Given the description of an element on the screen output the (x, y) to click on. 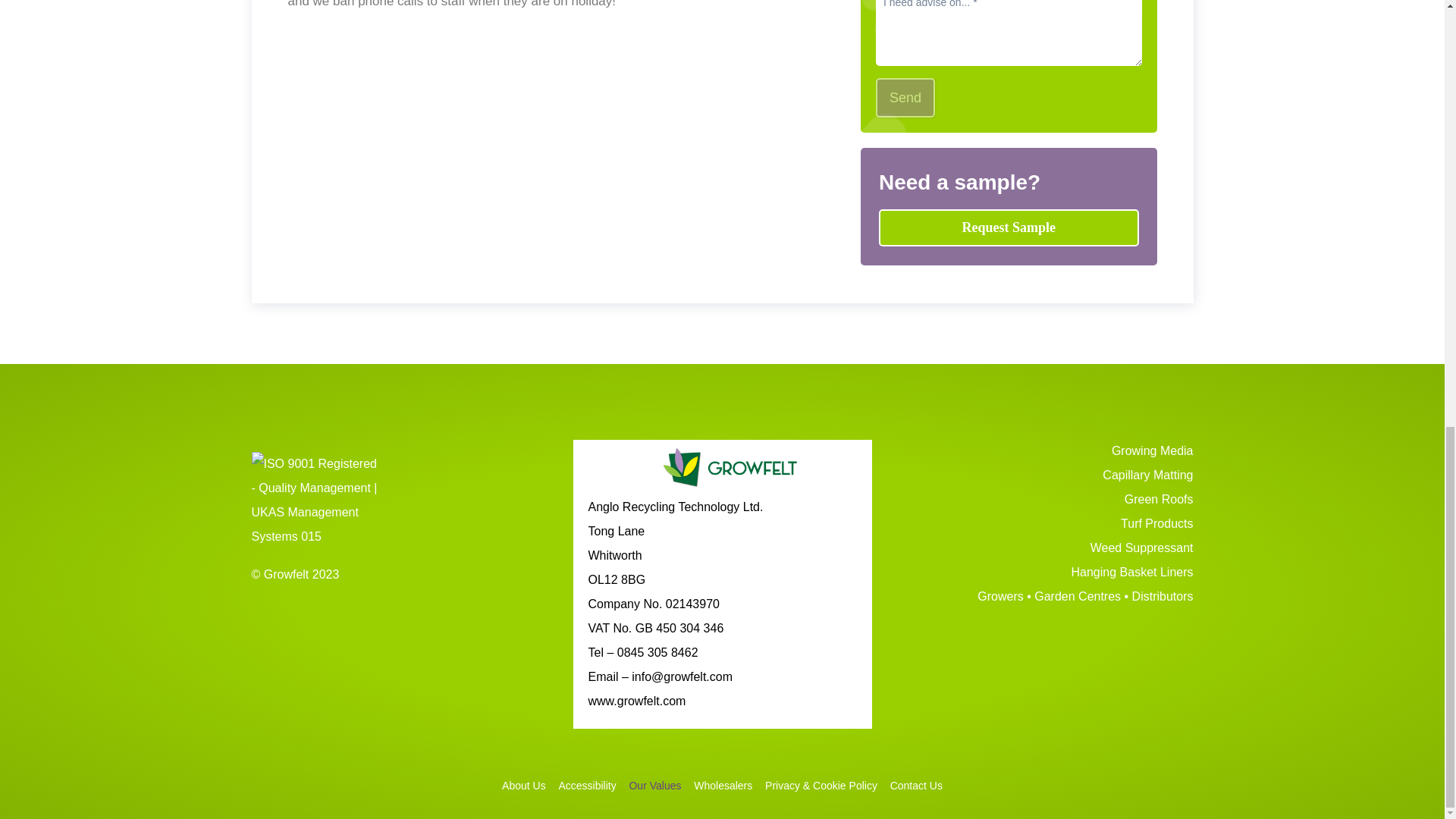
www.growfelt.com (636, 700)
Weed Suppressant (1044, 549)
Wholesalers (722, 784)
Hanging Basket Liners (1044, 573)
0845 305 8462 (657, 652)
Green Roofs (1044, 500)
Send (905, 97)
Accessibility (587, 784)
Capillary Matting (1044, 476)
Growing Media (1044, 451)
Our Values (655, 784)
Contact Us (916, 784)
About Us (523, 784)
Request Sample (1008, 227)
Turf Products (1044, 524)
